Given the description of an element on the screen output the (x, y) to click on. 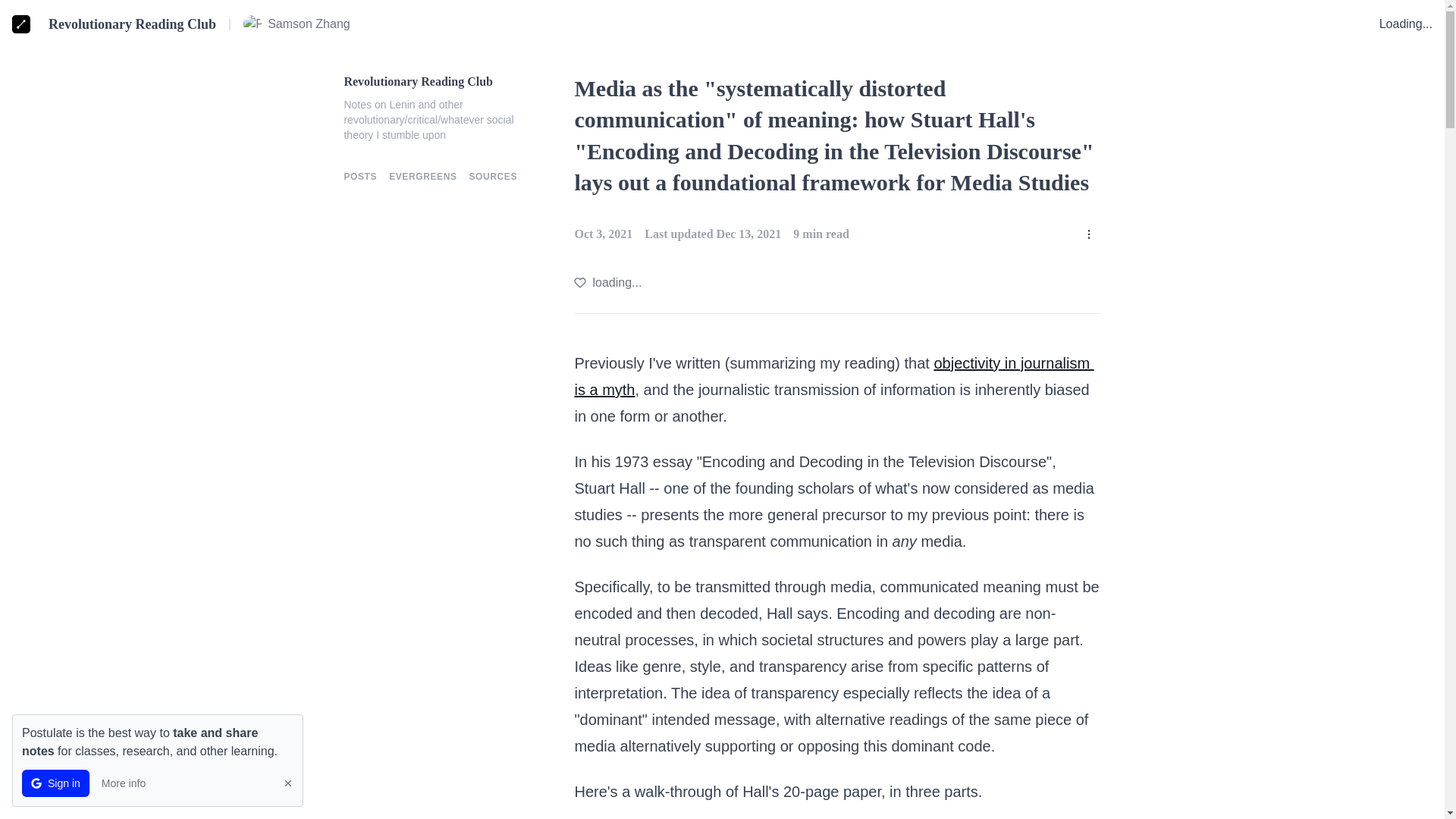
Revolutionary Reading Club (440, 81)
objectivity in journalism is a myth (833, 376)
More info (123, 783)
Samson Zhang (296, 24)
SOURCES (492, 176)
EVERGREENS (422, 176)
Revolutionary Reading Club (131, 24)
Sign in (54, 782)
POSTS (360, 176)
loading... (607, 282)
